Given the description of an element on the screen output the (x, y) to click on. 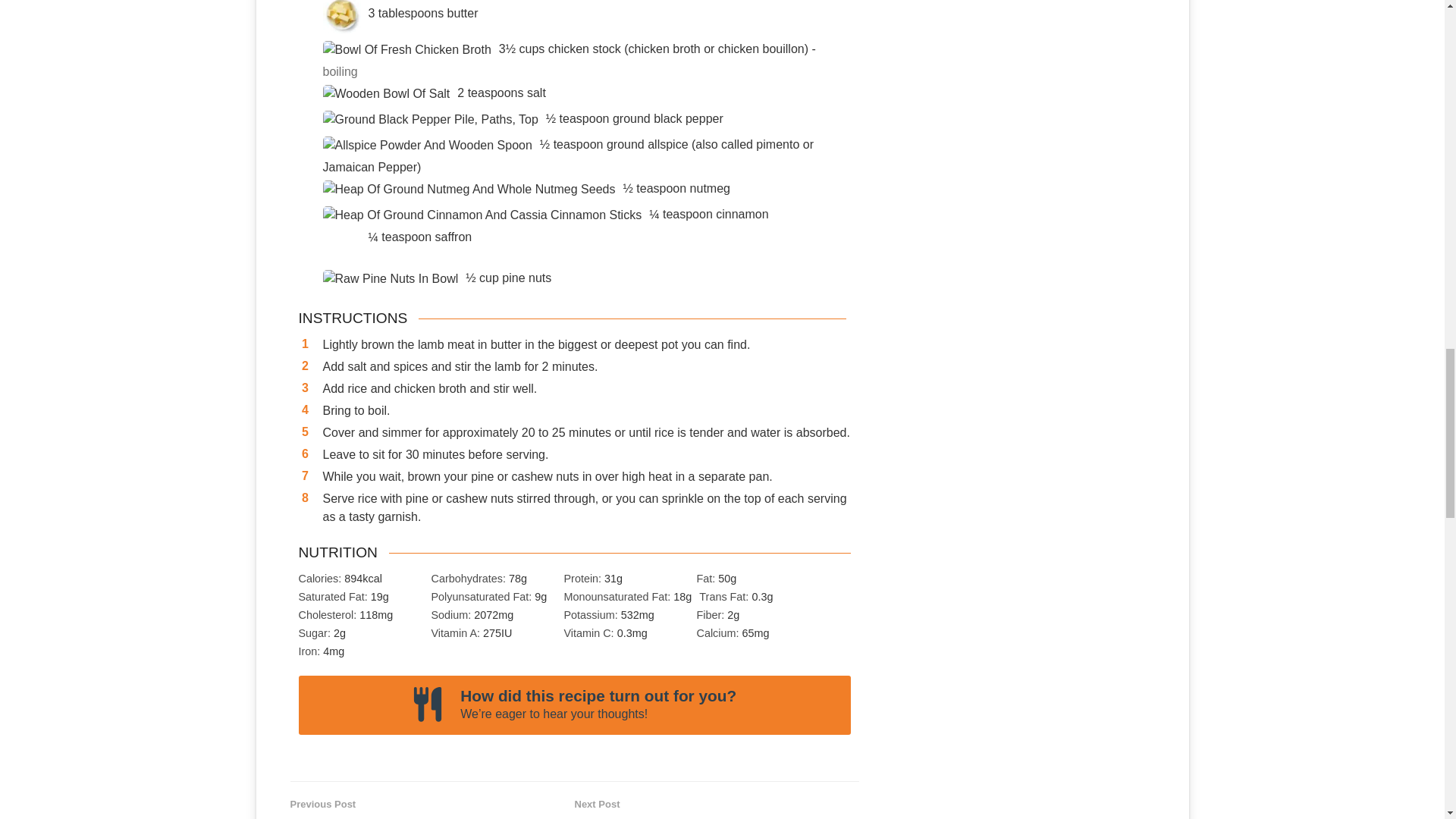
Savoury Arabic Lamb And Rice 8 (386, 94)
Savoury Arabic Lamb And Rice 9 (430, 119)
Savoury Arabic Lamb And Rice 10 (427, 145)
Savoury Arabic Lamb And Rice 7 (407, 49)
Savoury Arabic Lamb And Rice 13 (390, 279)
Savoury Arabic Lamb And Rice 6 (342, 16)
Savoury Arabic Lamb And Rice 12 (482, 215)
Savoury Arabic Lamb And Rice 11 (469, 189)
